Given the description of an element on the screen output the (x, y) to click on. 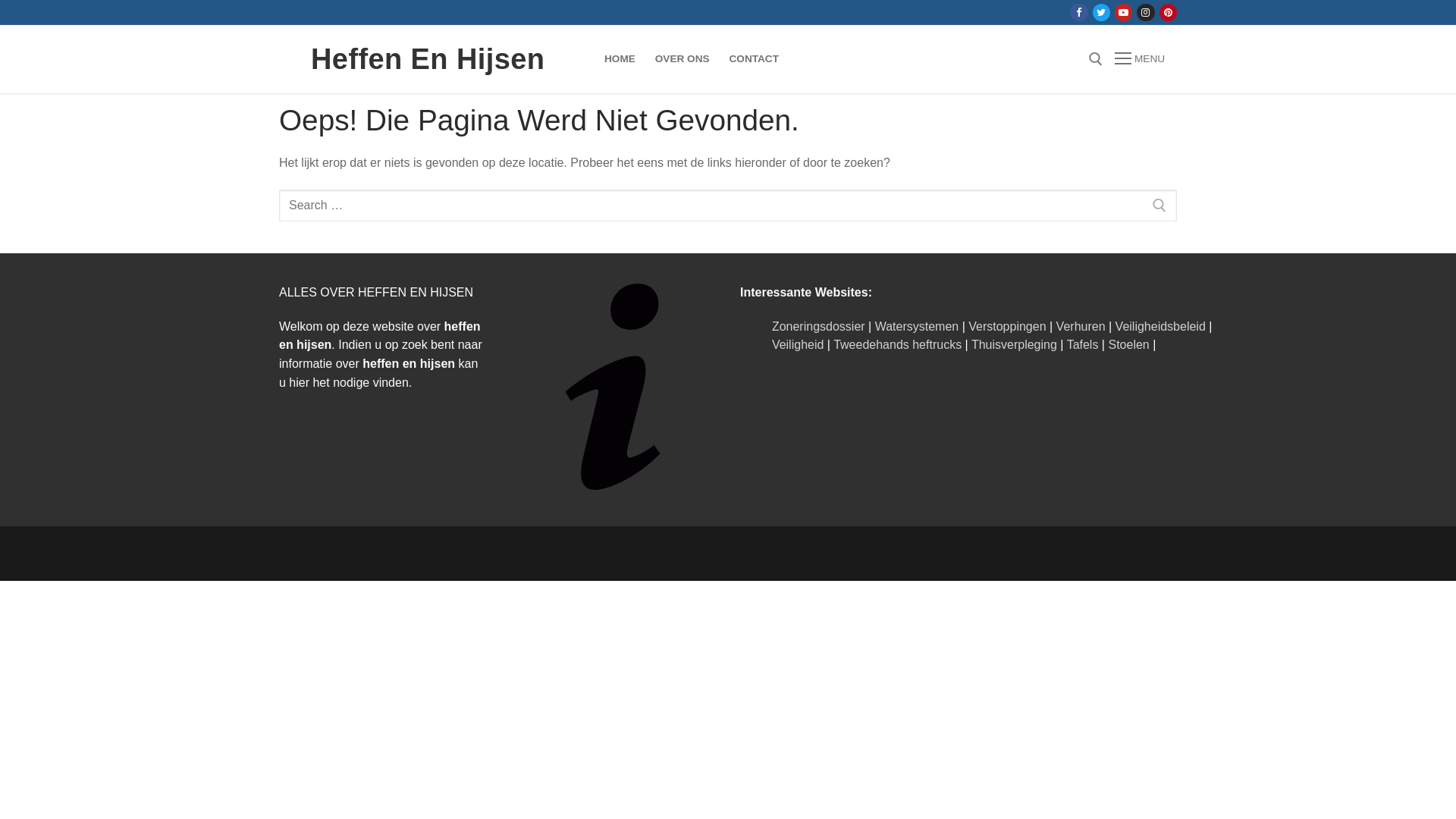
Thuisverpleging Element type: text (1014, 344)
Instagram Element type: hover (1145, 12)
Heffen En Hijsen Element type: text (427, 58)
Spring naar de inhoud Element type: text (0, 0)
Veiligheid Element type: text (797, 344)
Stoelen Element type: text (1127, 344)
Zoeken naar: Element type: hover (727, 205)
Youtube Element type: hover (1123, 12)
Tafels Element type: text (1082, 344)
Pinterest Element type: hover (1168, 12)
Verhuren Element type: text (1080, 326)
HOME Element type: text (619, 58)
OVER ONS Element type: text (682, 58)
Twitter Element type: hover (1101, 12)
Zoneringsdossier Element type: text (818, 326)
Veiligheidsbeleid Element type: text (1160, 326)
Watersystemen Element type: text (917, 326)
Tweedehands heftrucks Element type: text (897, 344)
Facebook Element type: hover (1078, 12)
MENU Element type: text (1139, 59)
Verstoppingen Element type: text (1006, 326)
CONTACT Element type: text (753, 58)
